Given the description of an element on the screen output the (x, y) to click on. 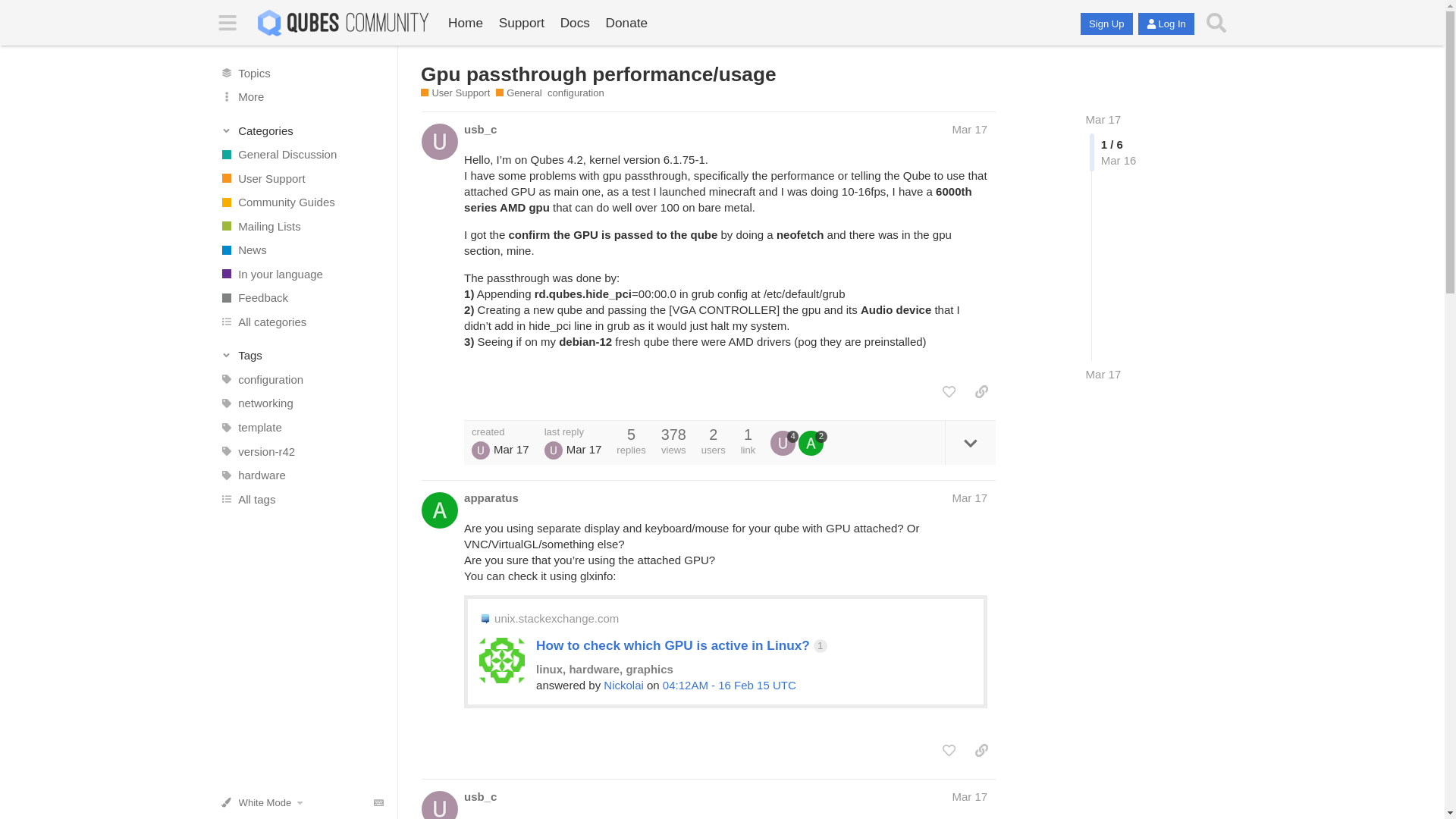
All tags (301, 498)
Log In (1165, 24)
Official Documentation (573, 22)
In your language (301, 274)
General (518, 92)
qubes-os.org (466, 22)
Toggle section (301, 355)
Docs (573, 22)
Home (466, 22)
hardware (301, 475)
Feedback (301, 297)
Sidebar (227, 22)
All topics (301, 72)
